Given the description of an element on the screen output the (x, y) to click on. 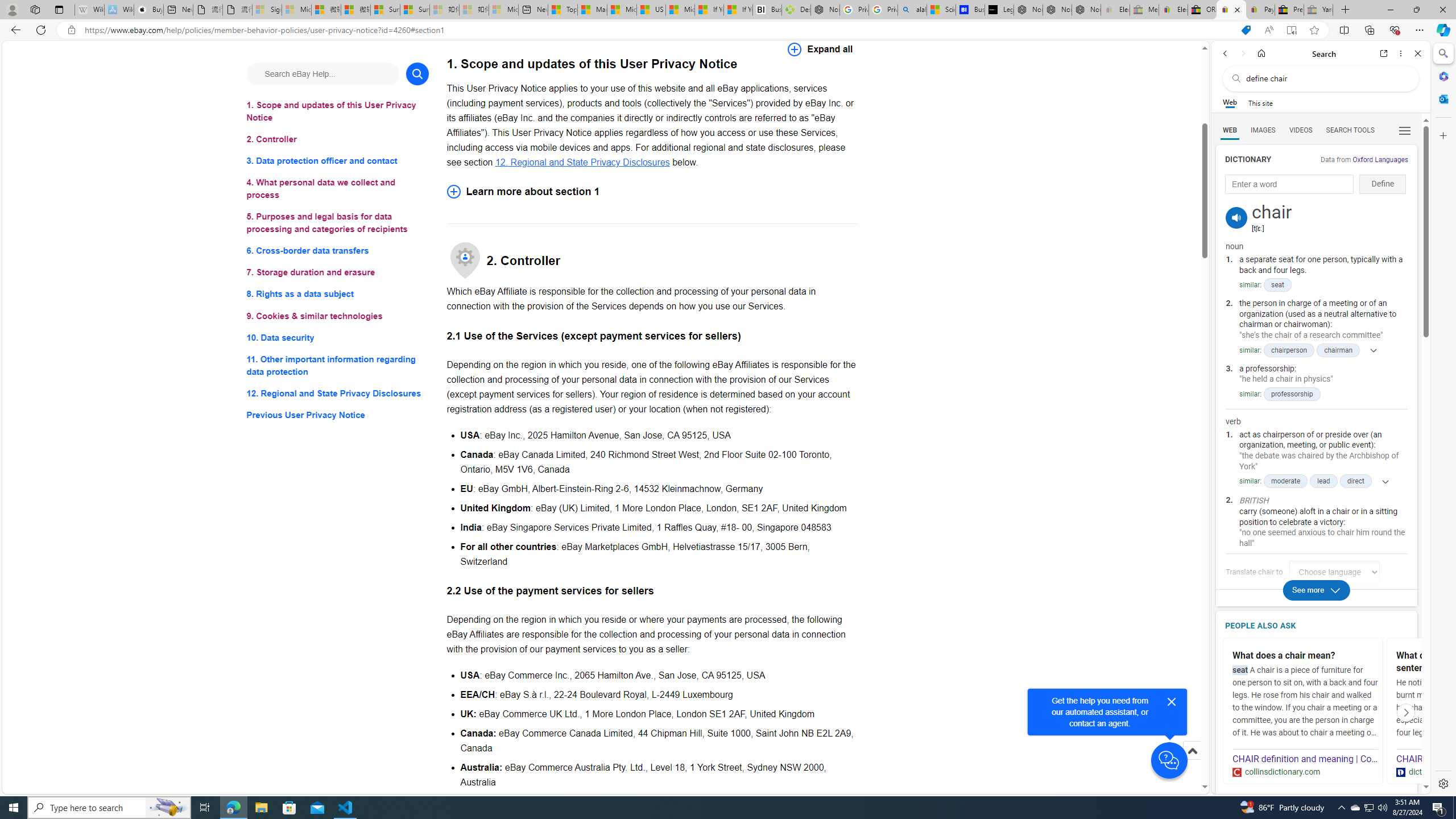
1. Scope and updates of this User Privacy Notice (337, 111)
Descarga Driver Updater (796, 9)
chairperson (1288, 350)
chairman (1337, 350)
Enter a word (1289, 184)
12. Regional and State Privacy Disclosures (582, 162)
10. Data security (337, 336)
Link for logging (1338, 572)
6. Cross-border data transfers (337, 250)
